Given the description of an element on the screen output the (x, y) to click on. 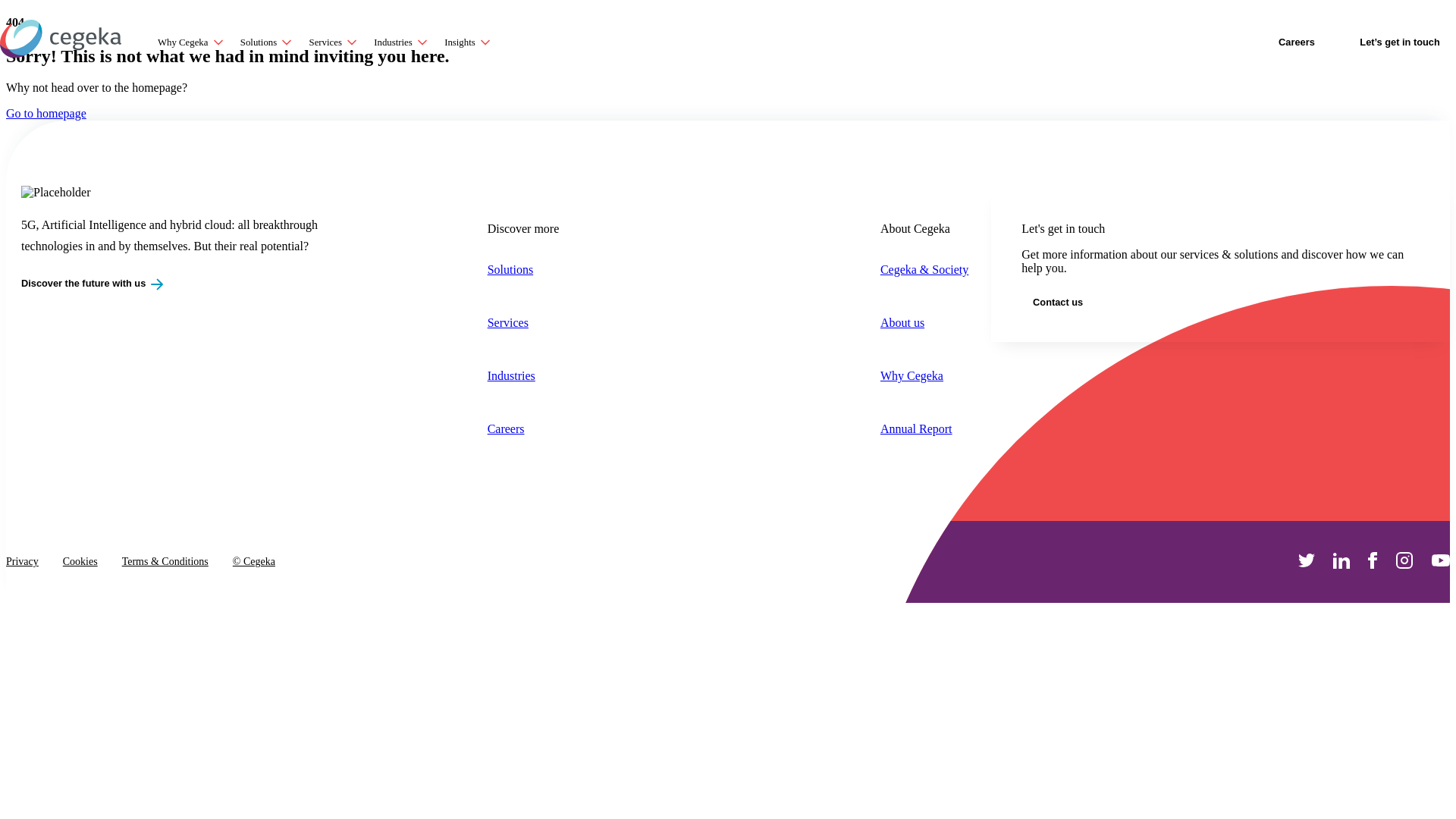
Careers Element type: text (523, 429)
Go to homepage Element type: text (46, 112)
Cookies Element type: text (79, 561)
Cegeka & Society Element type: text (924, 269)
About Cegeka Element type: text (924, 228)
Why Cegeka Element type: text (924, 376)
Discover more Element type: text (523, 228)
Services Element type: text (523, 323)
Privacy Element type: text (22, 561)
Solutions Element type: text (523, 269)
About us Element type: text (924, 323)
Annual Report Element type: text (924, 429)
Terms & Conditions Element type: text (165, 561)
Industries Element type: text (523, 376)
